Given the description of an element on the screen output the (x, y) to click on. 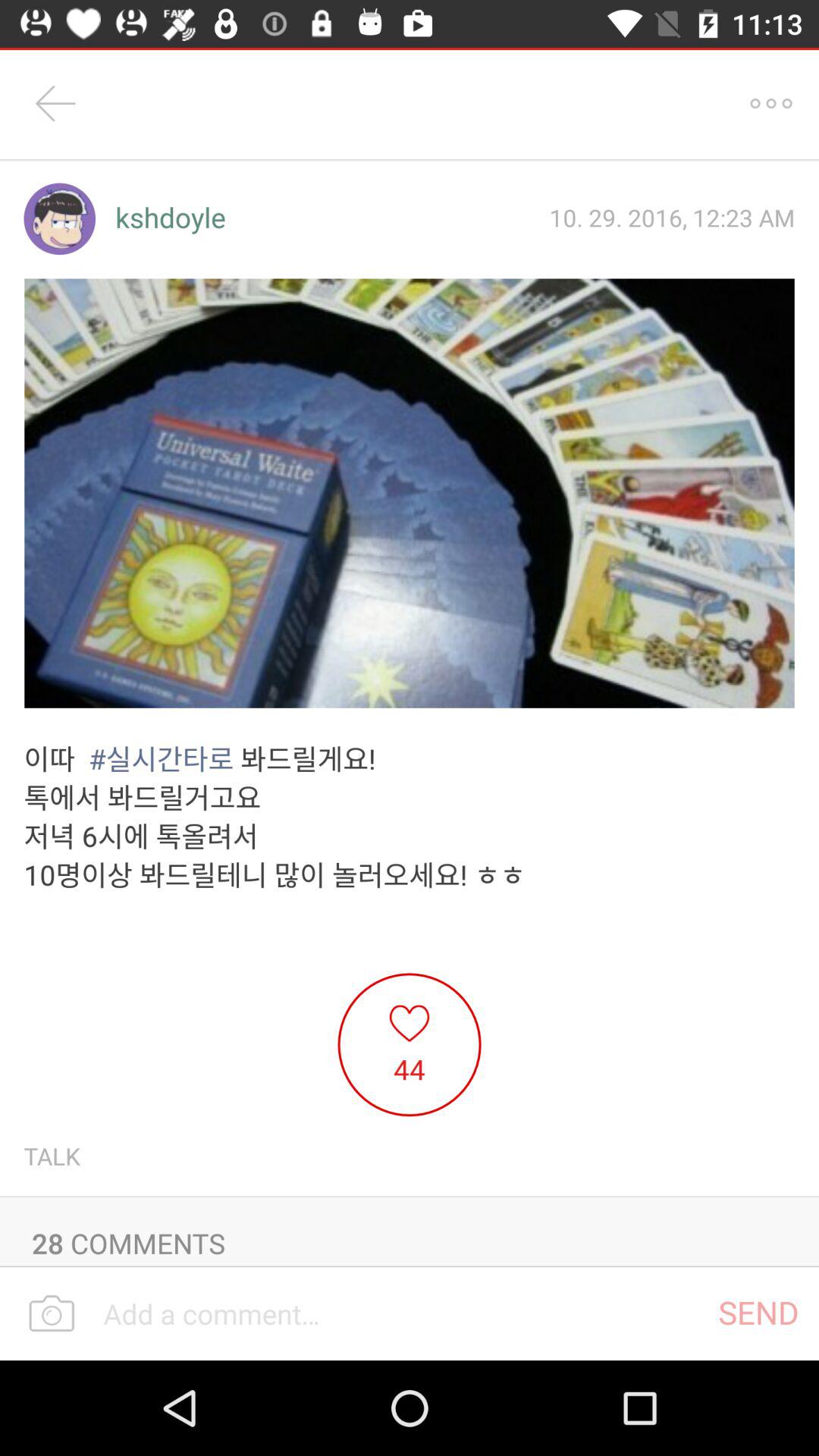
view profile (59, 218)
